Given the description of an element on the screen output the (x, y) to click on. 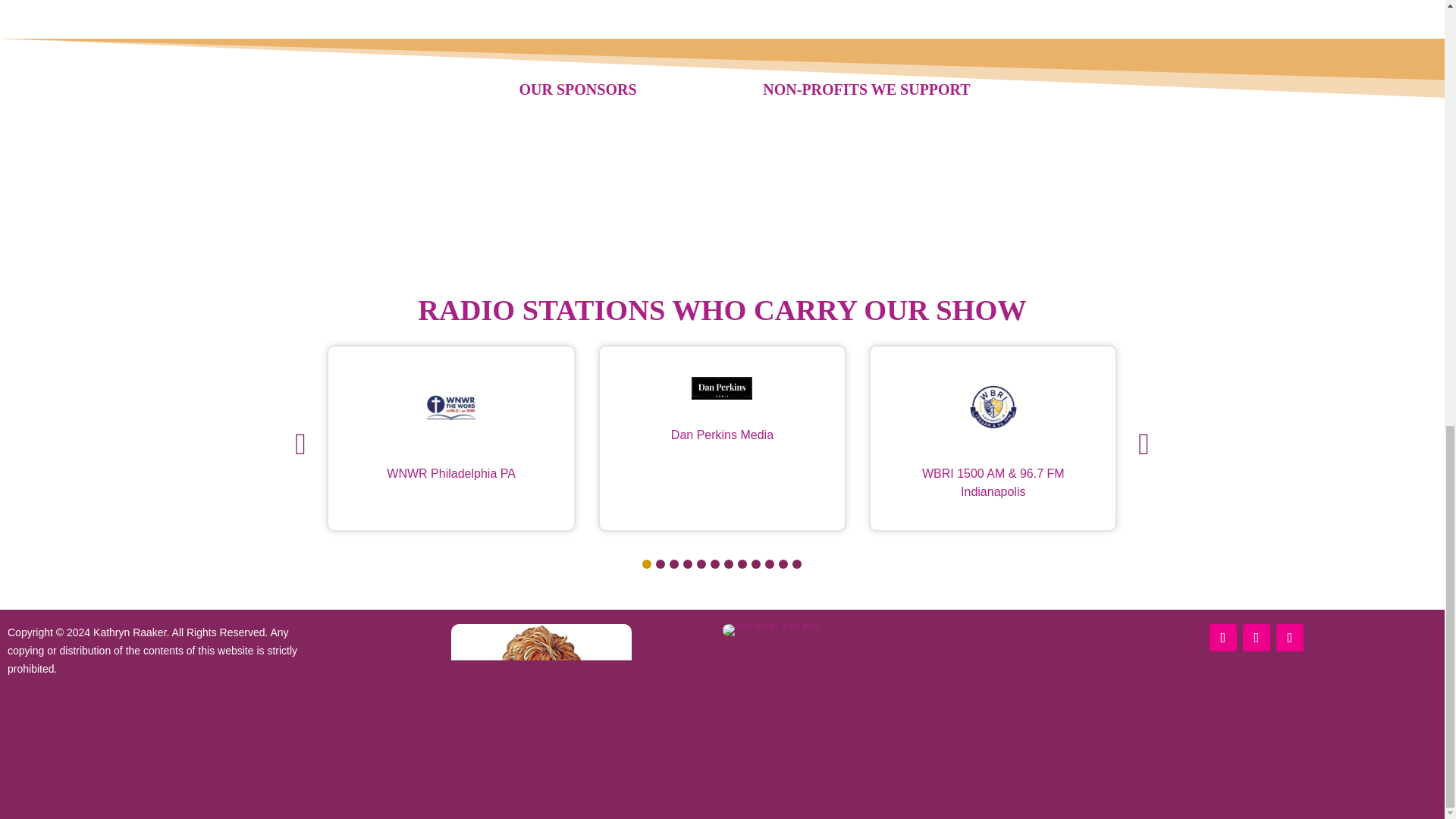
The Chef You and I (773, 630)
Kathryn Raaker's World (541, 714)
Follow on Facebook (1222, 637)
Follow on LinkedIn (1256, 637)
Follow on X (1289, 637)
